Given the description of an element on the screen output the (x, y) to click on. 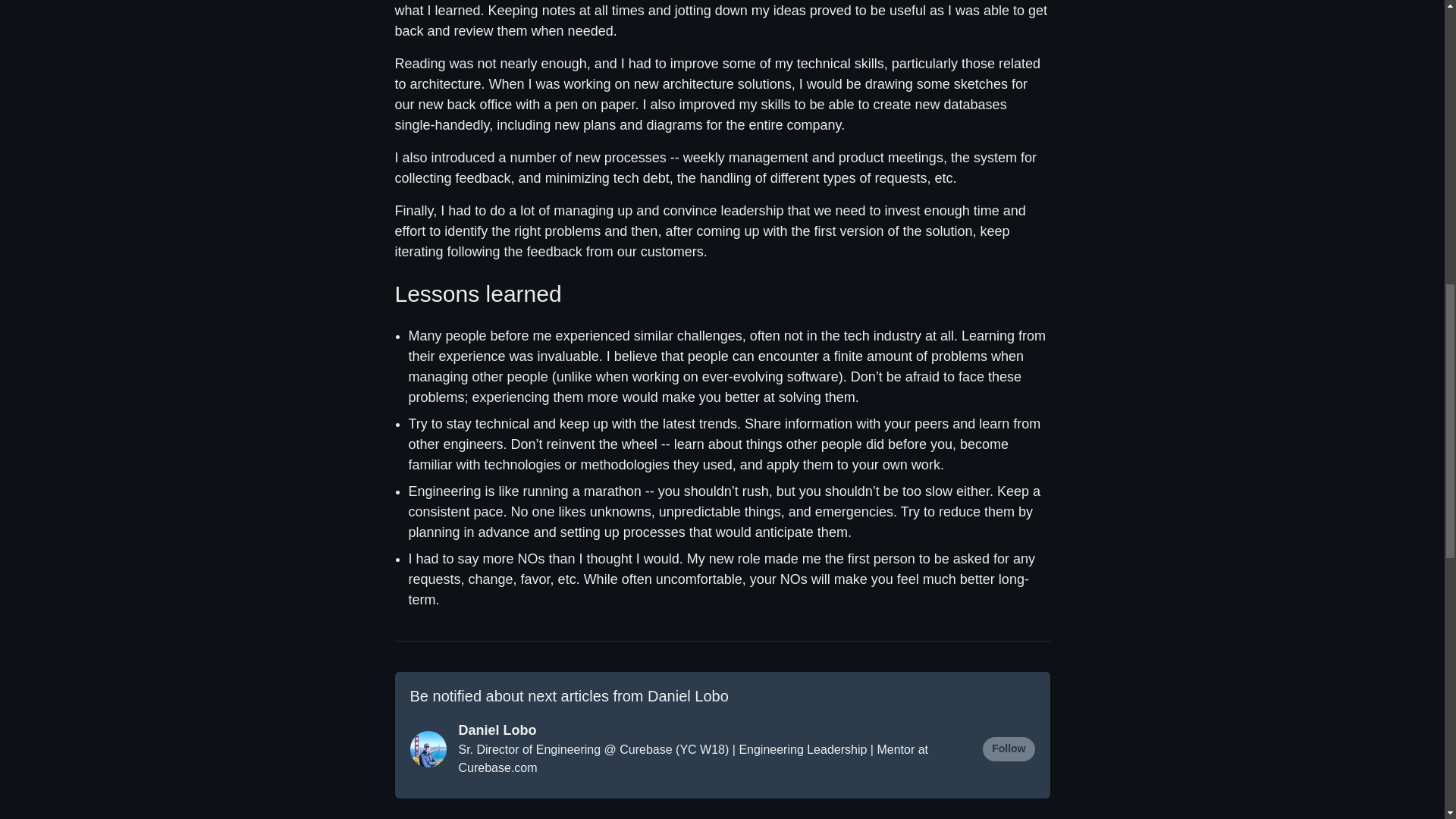
Daniel Lobo (710, 730)
Follow (1007, 749)
